Given the description of an element on the screen output the (x, y) to click on. 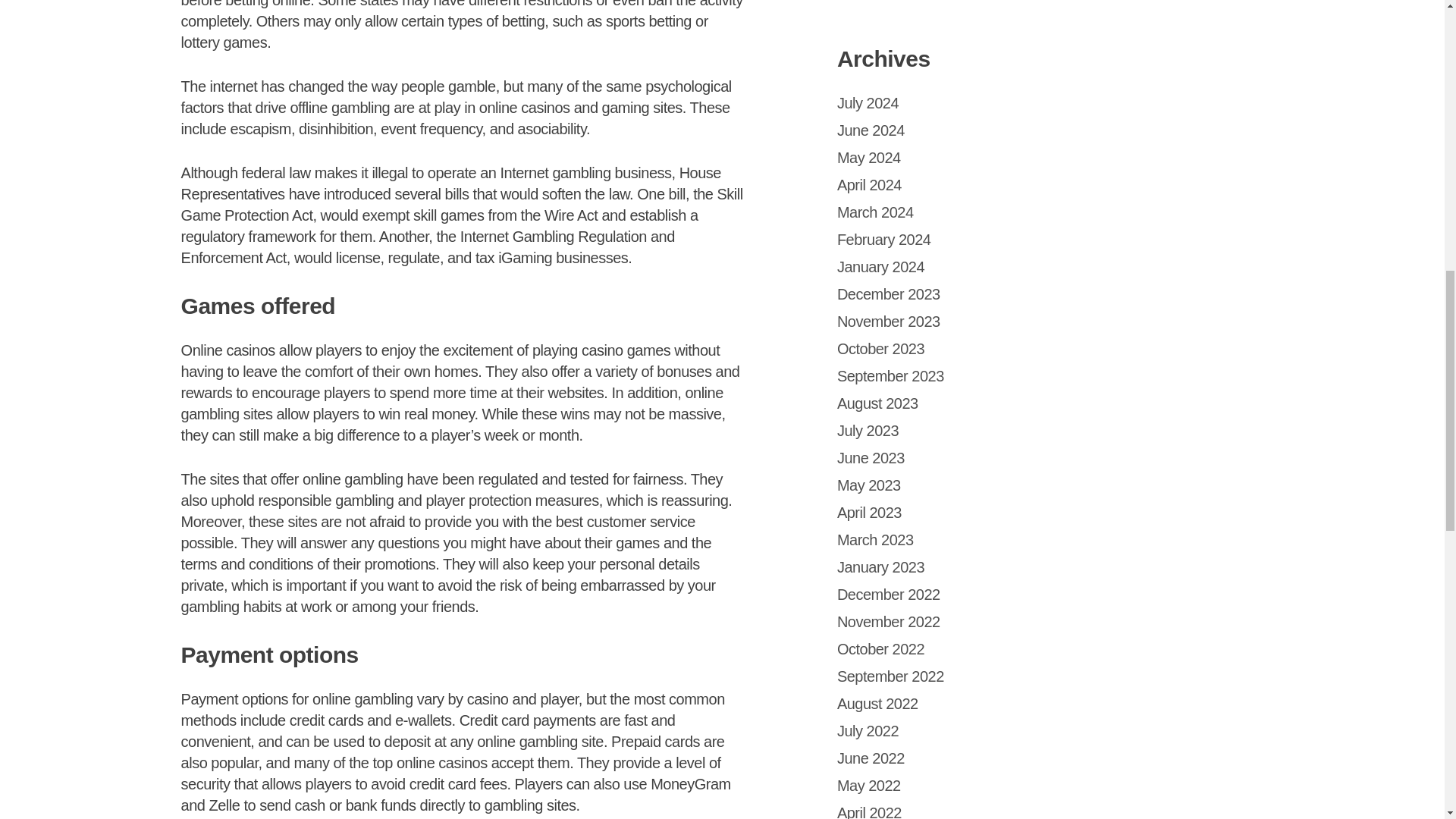
June 2023 (870, 457)
August 2022 (877, 703)
July 2023 (867, 430)
June 2024 (870, 130)
May 2024 (869, 157)
January 2024 (880, 266)
January 2023 (880, 566)
August 2023 (877, 402)
May 2023 (869, 484)
October 2023 (880, 348)
November 2022 (888, 621)
July 2022 (867, 730)
April 2024 (869, 184)
December 2022 (888, 594)
October 2022 (880, 648)
